Given the description of an element on the screen output the (x, y) to click on. 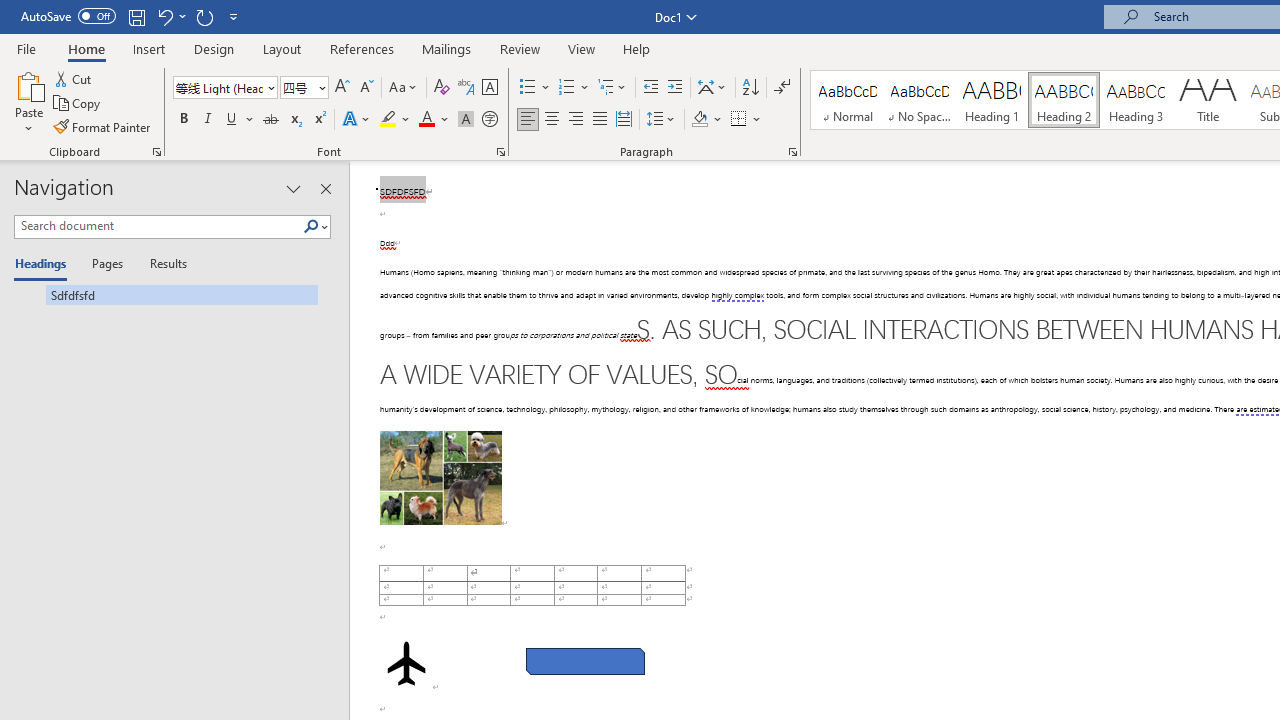
Sdfdfsfd (166, 294)
